Given the description of an element on the screen output the (x, y) to click on. 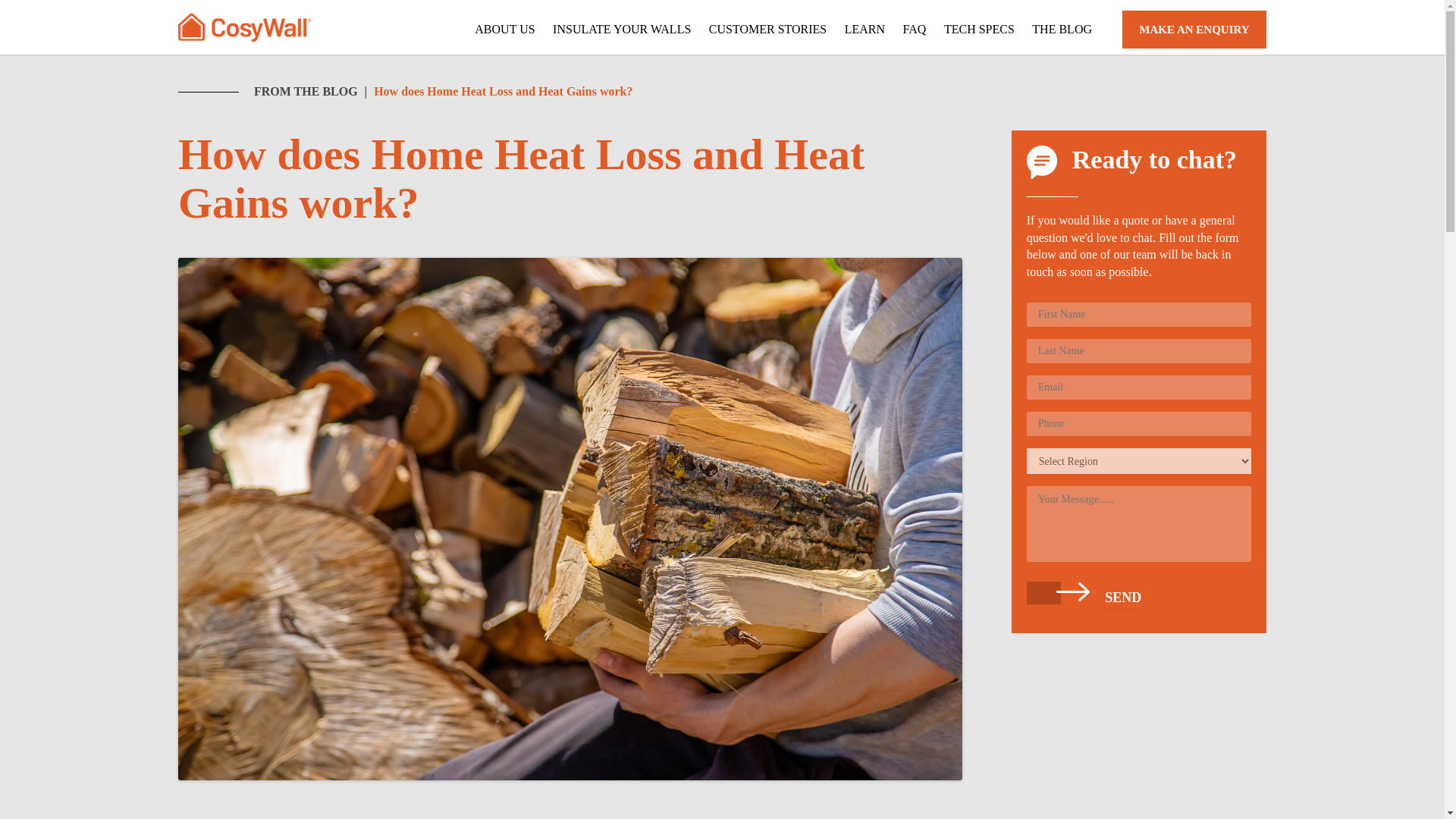
ABOUT US (504, 29)
SEND (1123, 598)
INSULATE YOUR WALLS (621, 29)
FAQ (914, 29)
How does Home Heat Loss and Heat Gains work? (502, 91)
TECH SPECS (978, 29)
SEND (1123, 598)
MAKE AN ENQUIRY (1194, 29)
LEARN (864, 29)
CUSTOMER STORIES (768, 29)
THE BLOG (1062, 29)
